Given the description of an element on the screen output the (x, y) to click on. 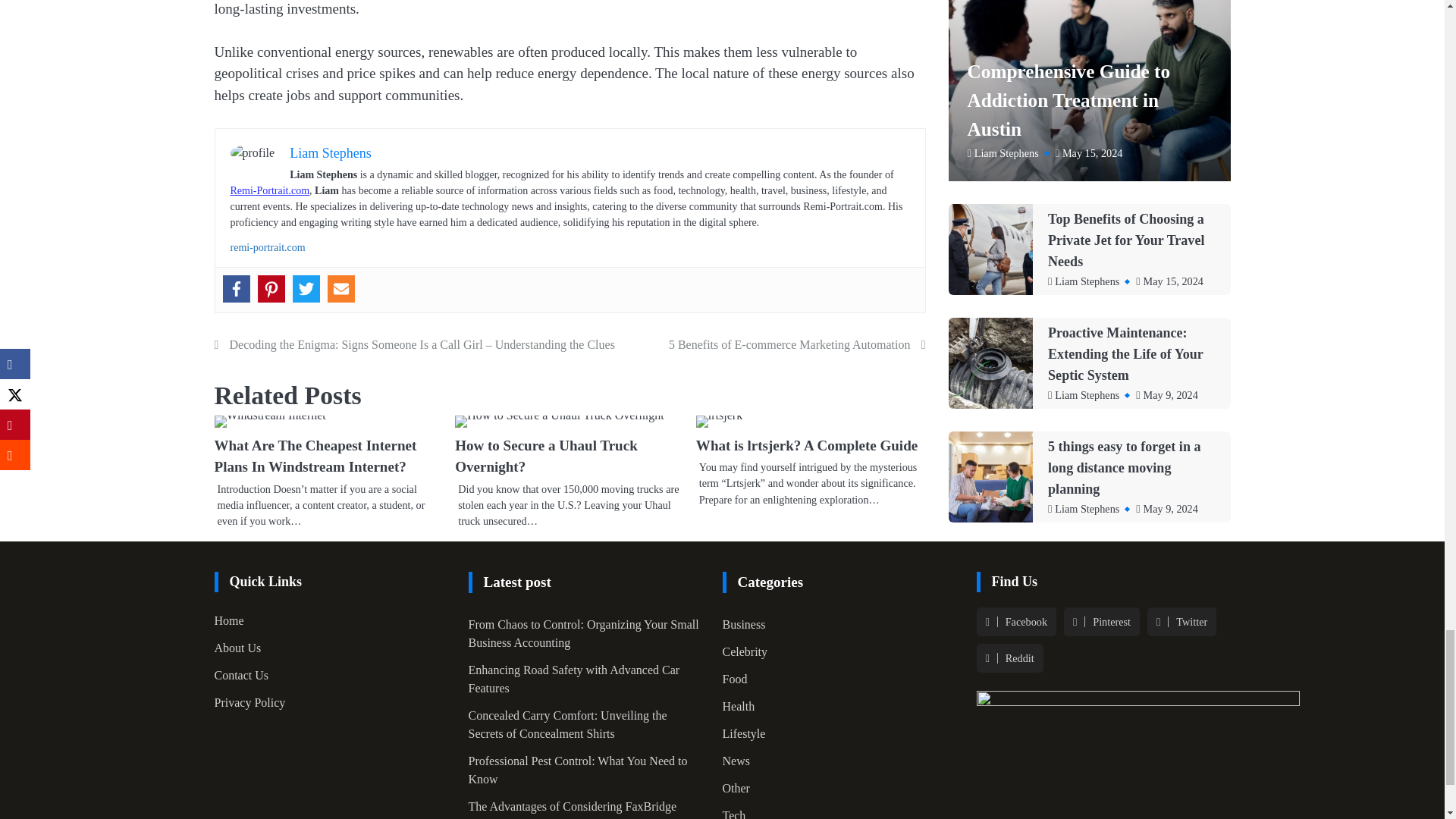
Facebook (236, 288)
Twitter (306, 288)
User email (341, 288)
Pinterest (271, 288)
